Given the description of an element on the screen output the (x, y) to click on. 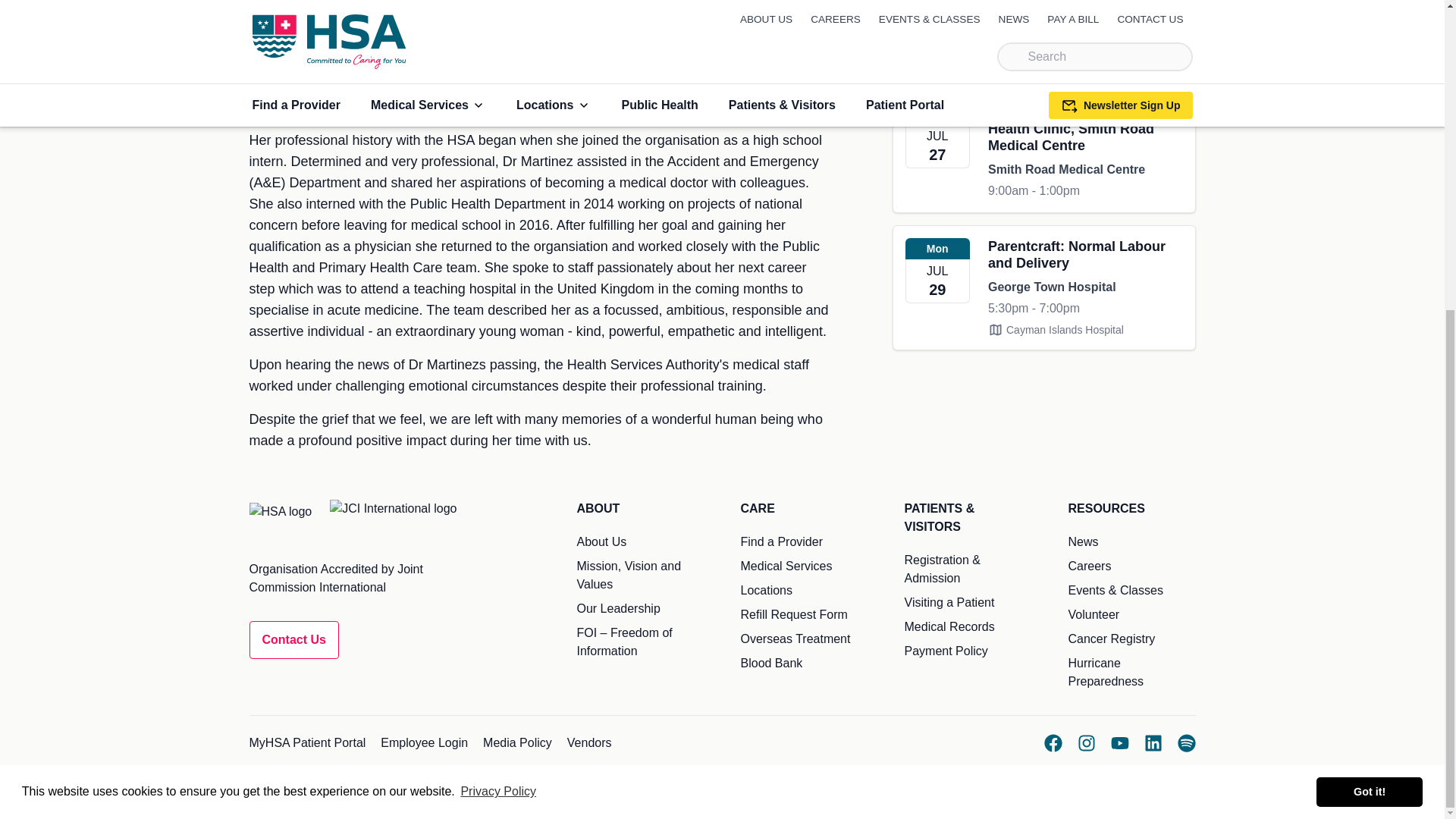
Privacy Policy (498, 299)
Got it! (1369, 299)
